Given the description of an element on the screen output the (x, y) to click on. 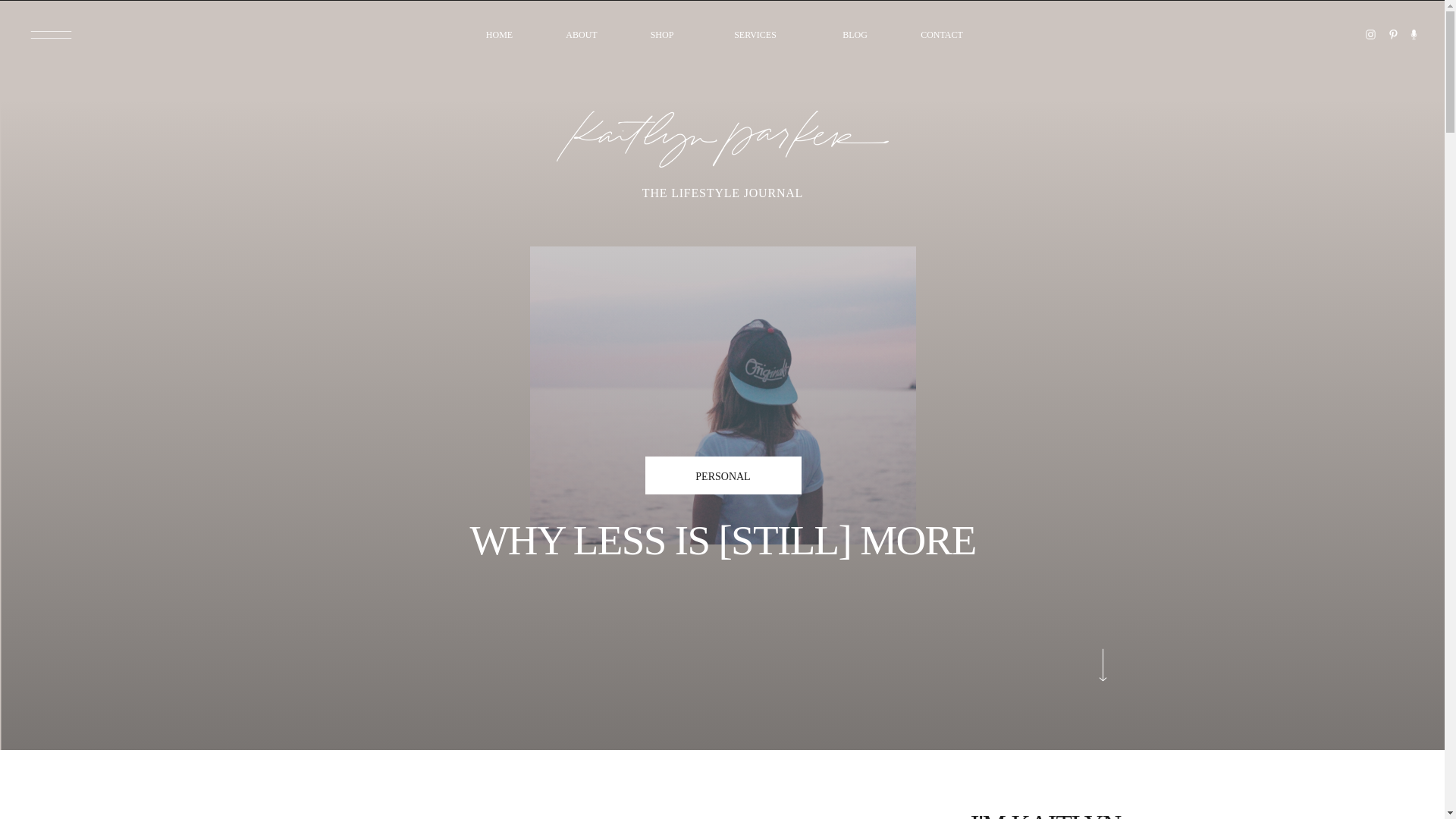
PERSONAL (722, 476)
ABOUT (580, 34)
SERVICES (754, 35)
SHOP (662, 35)
CONTACT (941, 35)
BLOG (854, 34)
HOME (498, 35)
